Given the description of an element on the screen output the (x, y) to click on. 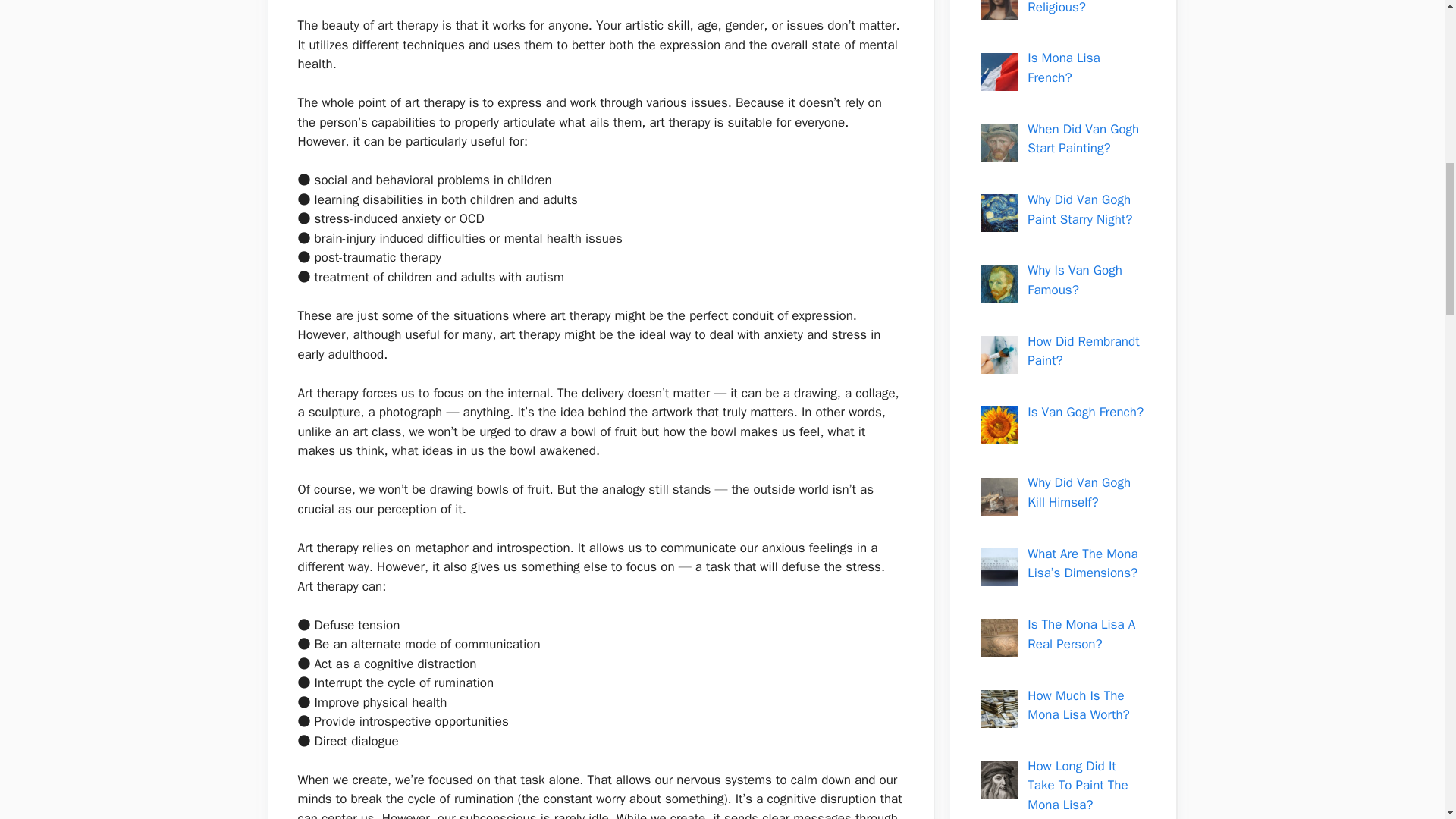
Why Is Van Gogh Famous? (1074, 280)
Is Mona Lisa Religious? (1063, 7)
Why Did Van Gogh Paint Starry Night? (1079, 209)
Is Mona Lisa French? (1063, 67)
How Did Rembrandt Paint? (1082, 351)
When Did Van Gogh Start Painting? (1082, 139)
